Given the description of an element on the screen output the (x, y) to click on. 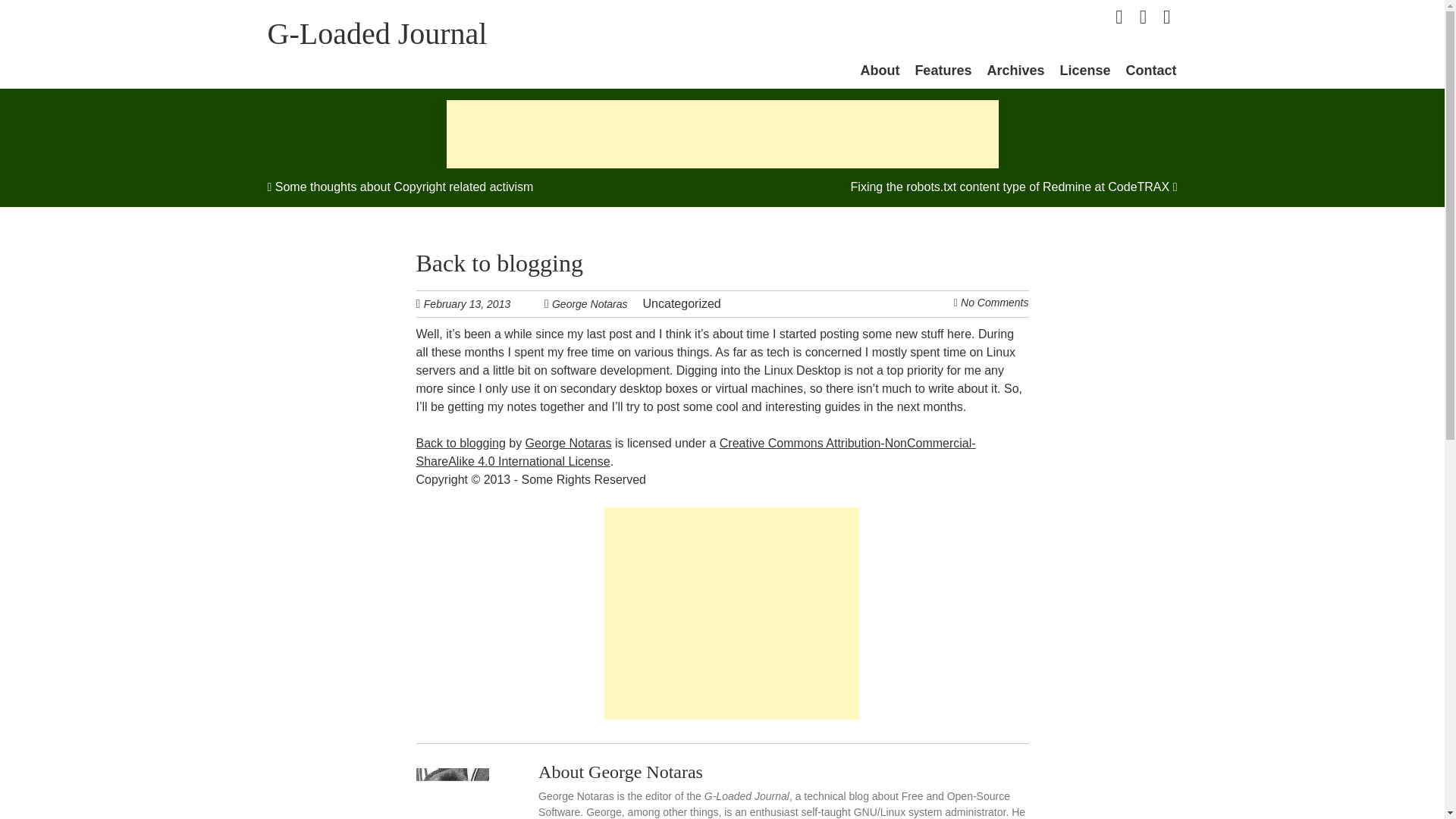
Follow me on Twitter (1119, 16)
License (1084, 70)
Permalink to Back to blogging (498, 262)
G-Loaded Journal (376, 33)
Licensing information about our content (1084, 70)
Skip to content (884, 69)
About (879, 70)
George Notaras (589, 303)
George Notaras (568, 442)
Archives (1015, 70)
